Given the description of an element on the screen output the (x, y) to click on. 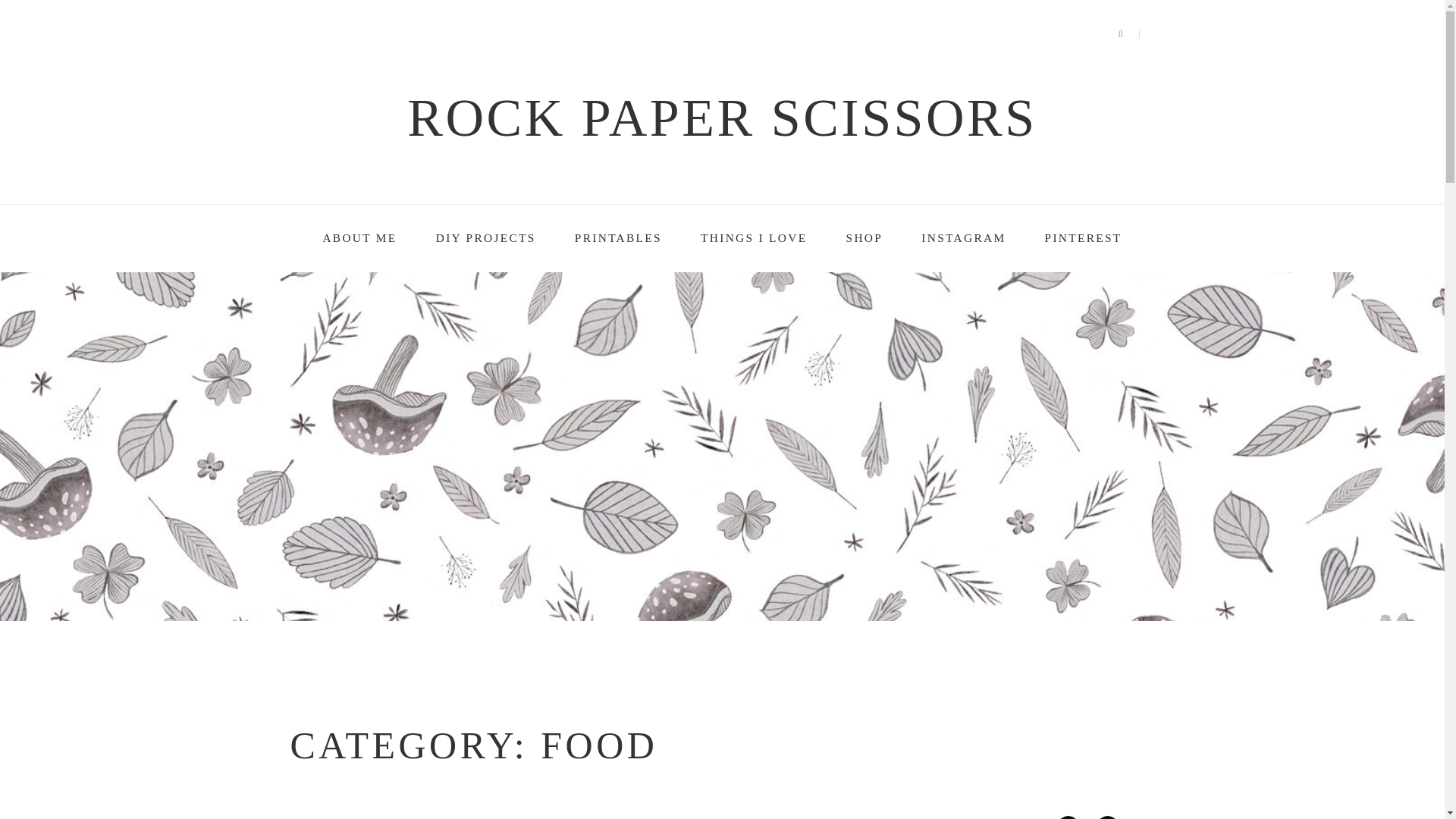
THINGS I LOVE (753, 237)
PRINTABLES (618, 237)
May 25, 2016 (804, 818)
INSTAGRAM (963, 237)
ROCK PAPER SCISSORS (721, 117)
DIY PROJECTS (485, 237)
ABOUT ME (358, 237)
PINTEREST (1083, 237)
